Given the description of an element on the screen output the (x, y) to click on. 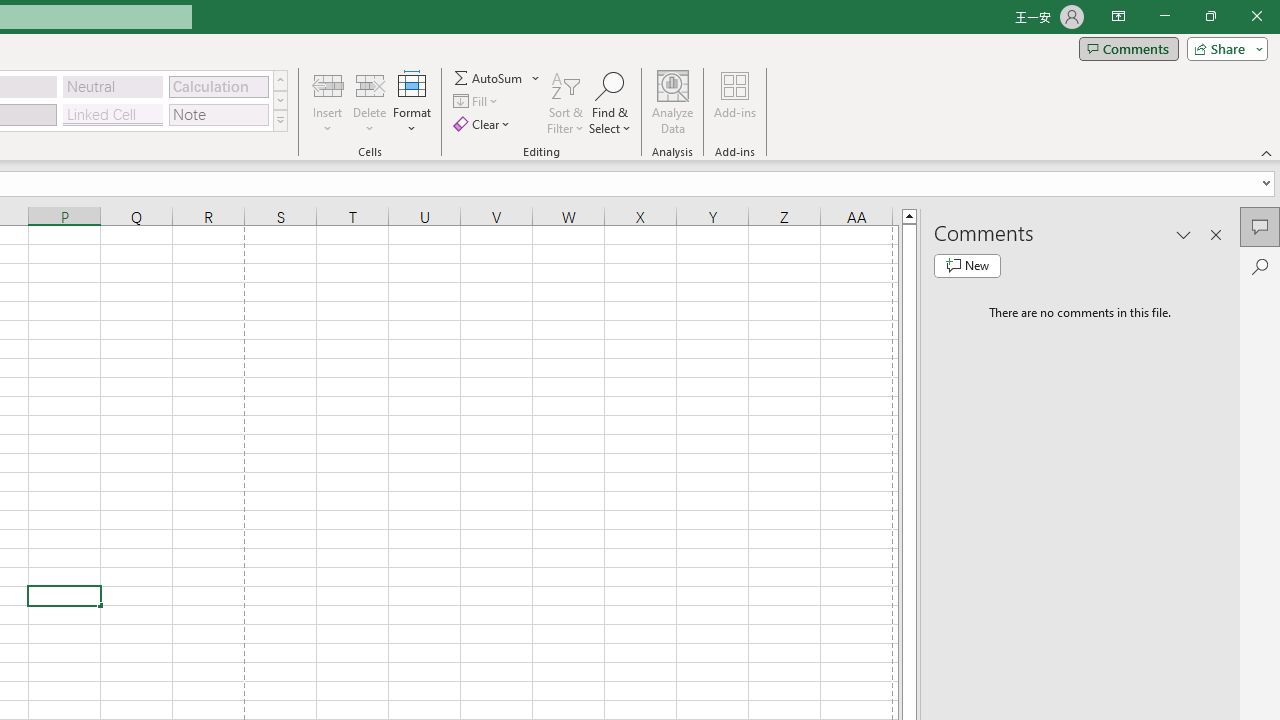
Class: NetUIImage (280, 120)
Linked Cell (113, 114)
Clear (483, 124)
Fill (477, 101)
Ribbon Display Options (1118, 16)
Share (1223, 48)
Line up (909, 215)
Analyze Data (673, 102)
Row Down (280, 100)
AutoSum (497, 78)
Neutral (113, 86)
Insert (328, 102)
Collapse the Ribbon (1267, 152)
Note (218, 114)
